Given the description of an element on the screen output the (x, y) to click on. 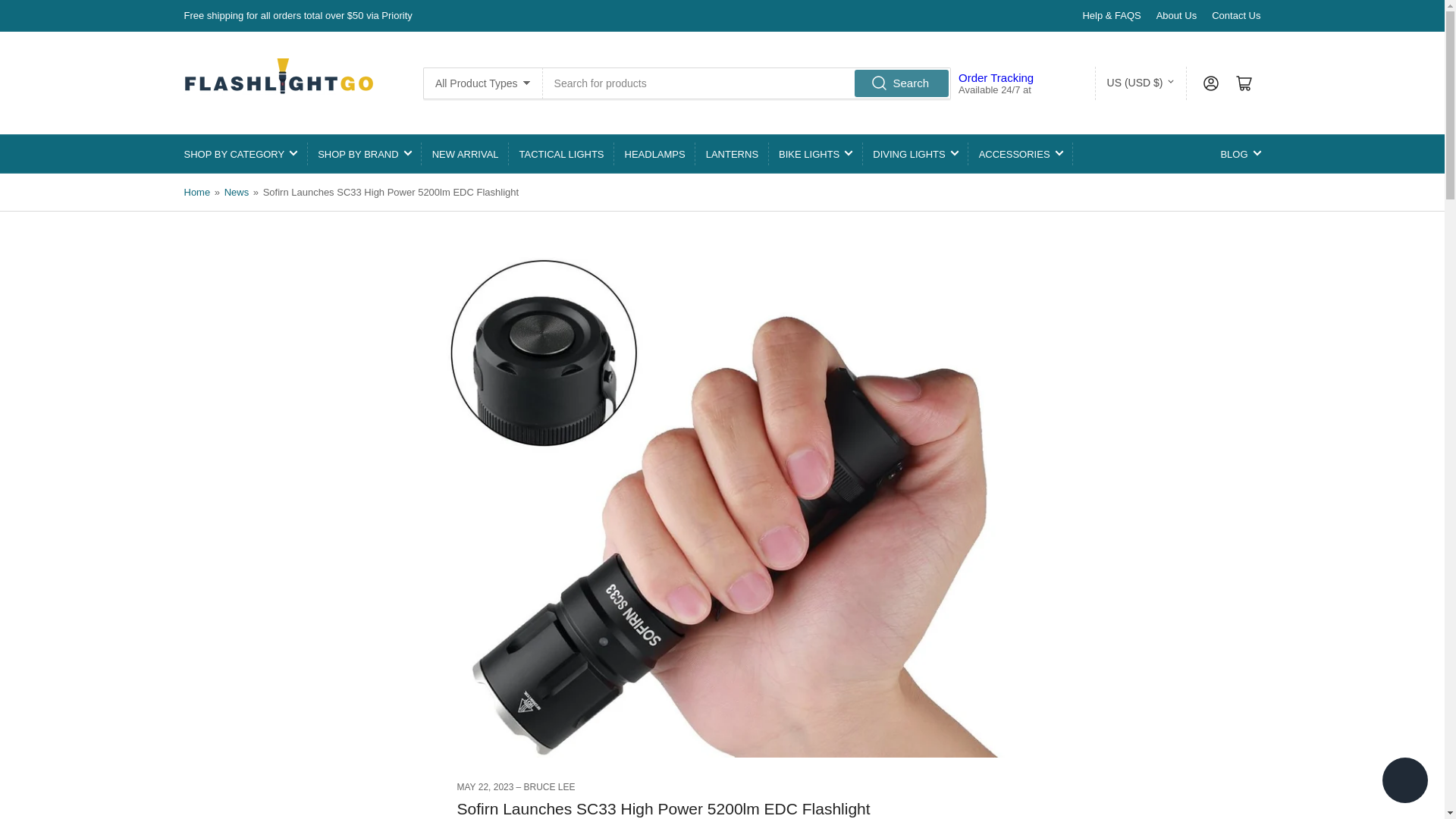
About Us (1176, 15)
Order Tracking (995, 77)
Contact Us (1235, 15)
Shopify online store chat (1404, 781)
Order Tracking (995, 77)
Search (901, 82)
